Given the description of an element on the screen output the (x, y) to click on. 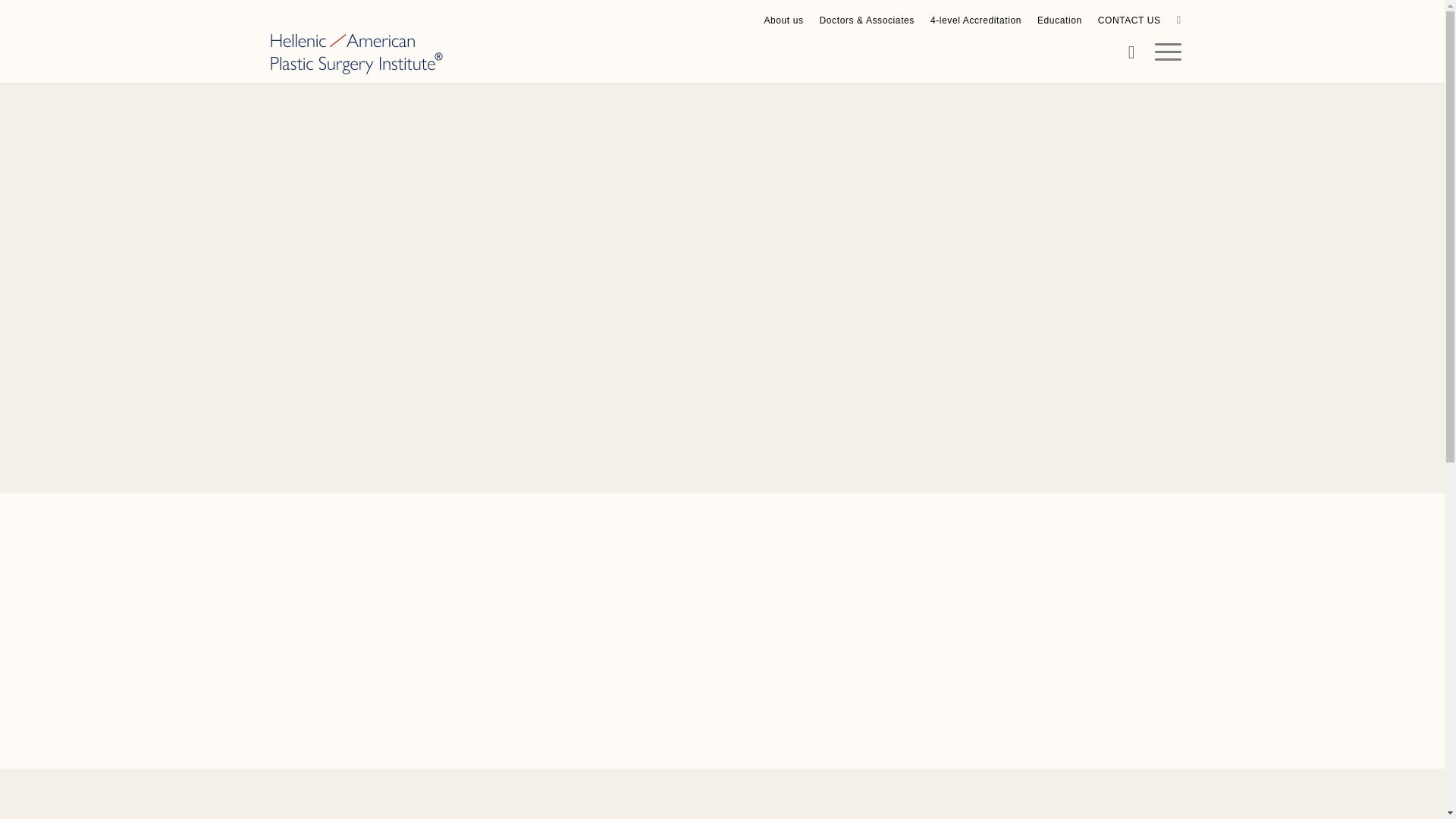
4-level Accreditation (976, 20)
Education (1058, 20)
CONTACT US (1128, 20)
About us (782, 20)
